Given the description of an element on the screen output the (x, y) to click on. 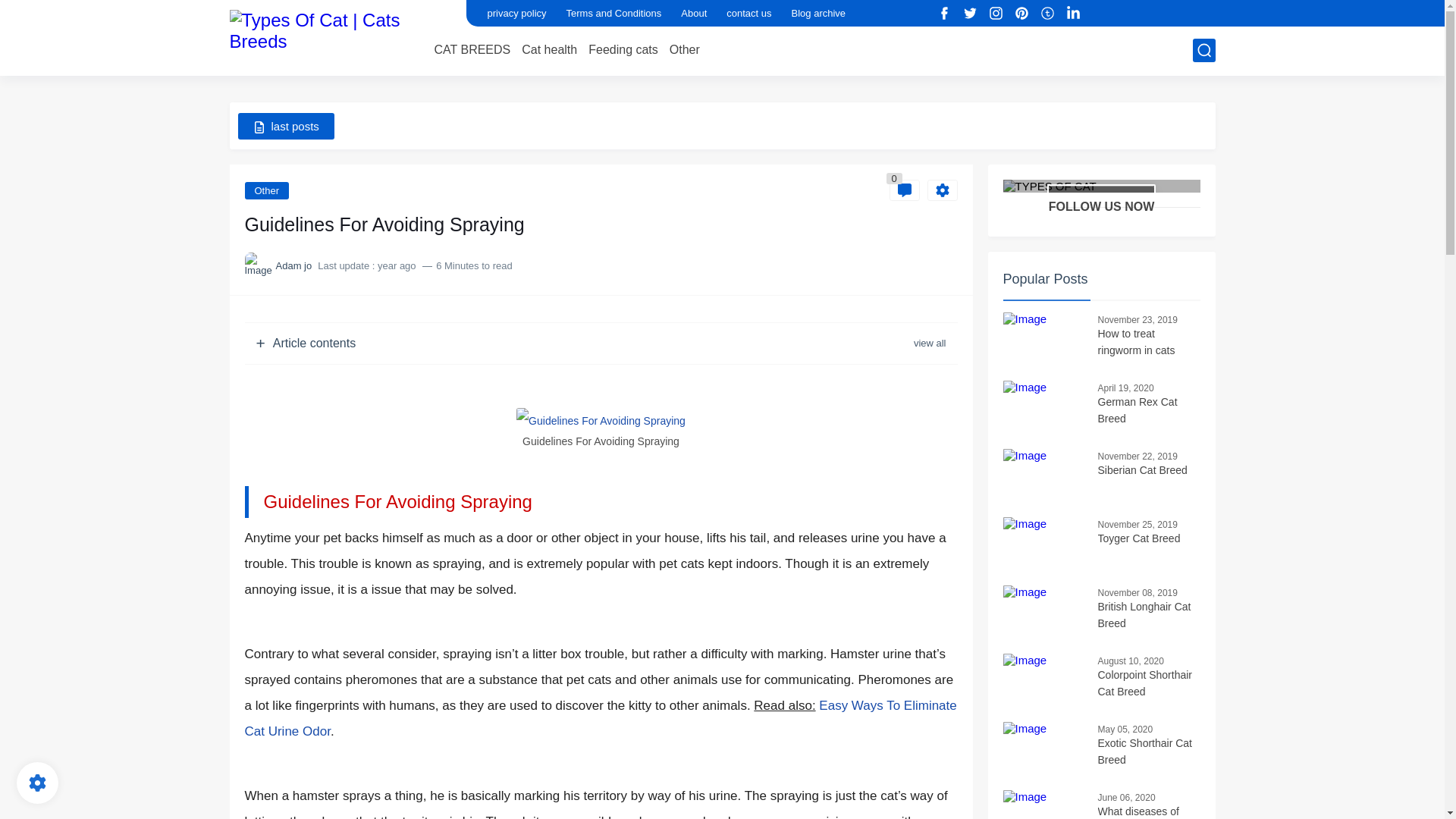
Other (684, 49)
contact us (748, 12)
privacy policy (515, 12)
linkedin (1073, 13)
tumblr (1048, 13)
Feeding cats (623, 49)
Feeding cats (623, 49)
0 (903, 189)
Blog archive (818, 12)
Other (266, 190)
